Given the description of an element on the screen output the (x, y) to click on. 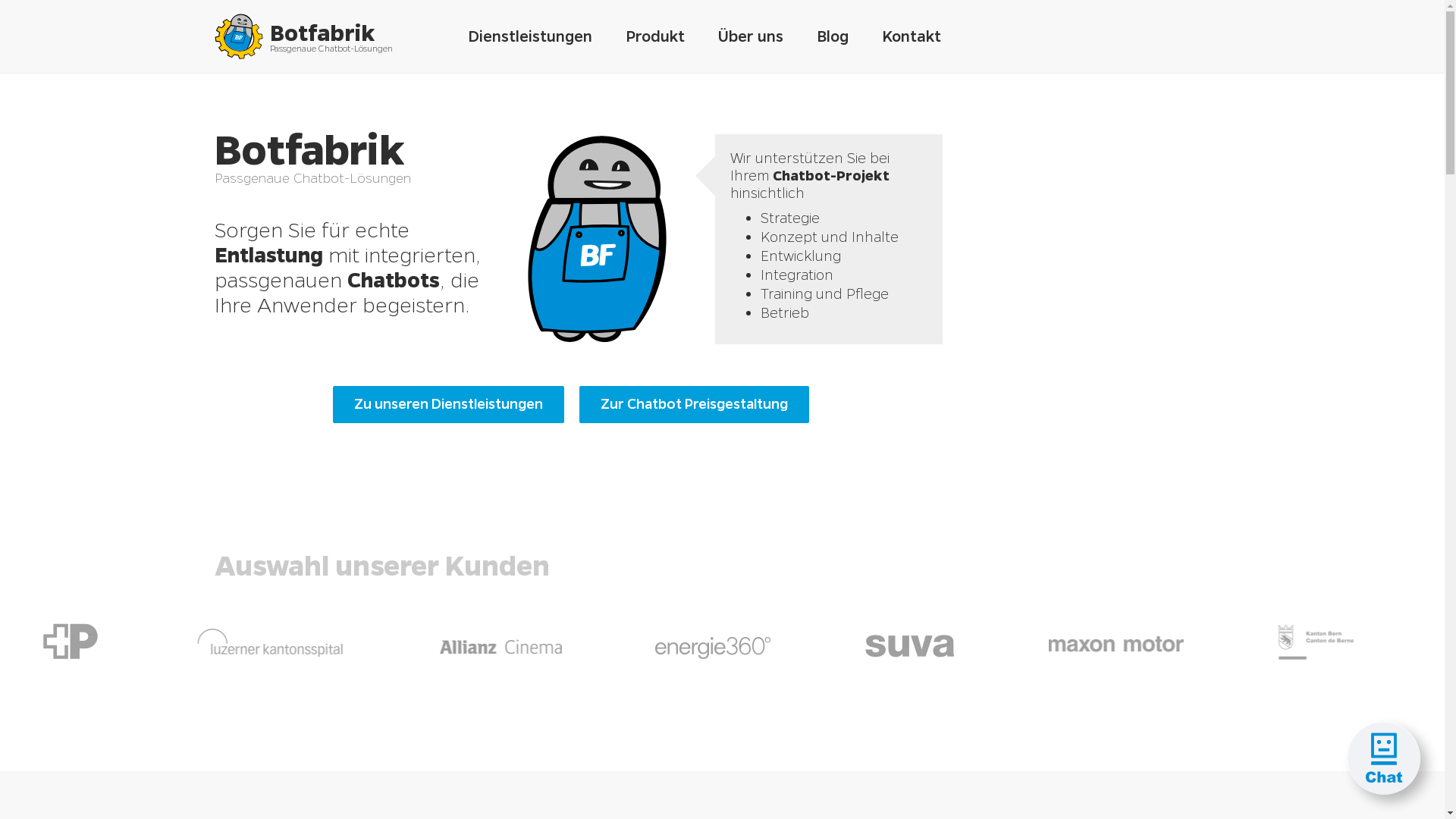
Produkt Element type: text (655, 35)
Zu unseren Dienstleistungen Element type: text (447, 404)
Dienstleistungen Element type: text (529, 35)
Blog Element type: text (832, 35)
Zur Chatbot Preisgestaltung Element type: text (694, 404)
Kontakt Element type: text (911, 35)
